Given the description of an element on the screen output the (x, y) to click on. 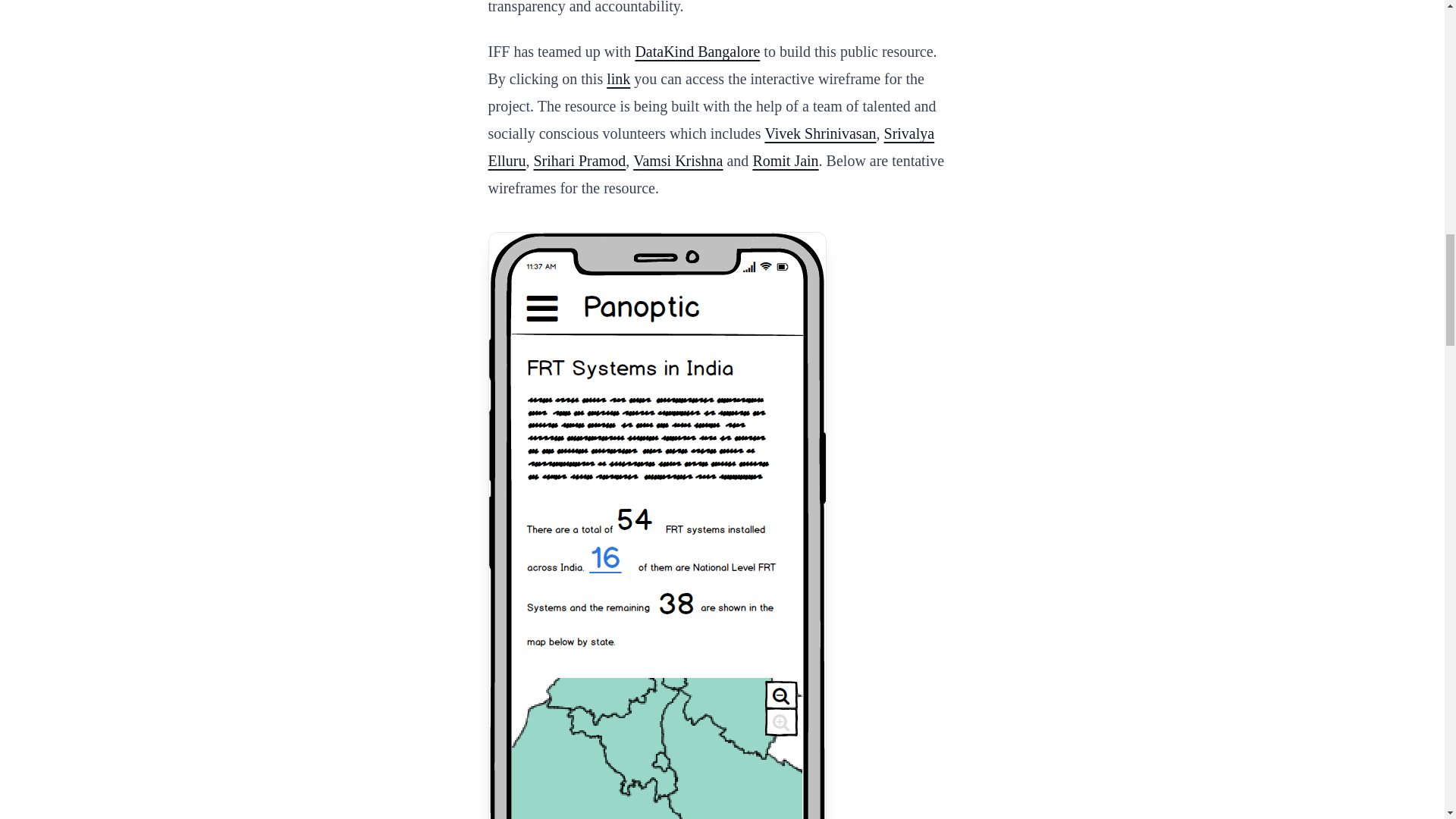
Srihari Pramod (580, 160)
Vivek Shrinivasan (820, 133)
Srivalya Elluru (710, 146)
DataKind Bangalore (697, 51)
Romit Jain (785, 160)
link (618, 78)
Vamsi Krishna (677, 160)
